Given the description of an element on the screen output the (x, y) to click on. 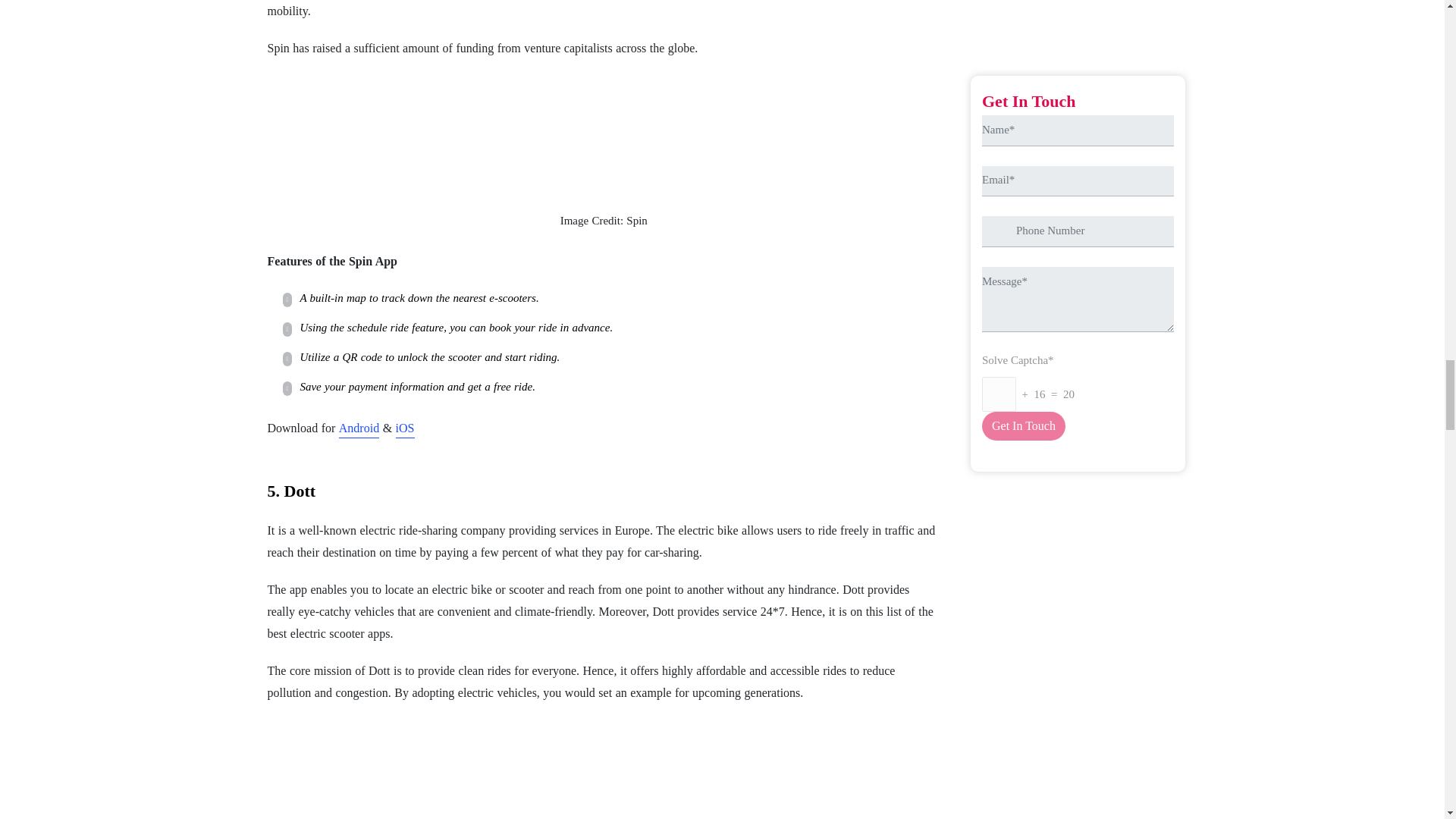
Dott (603, 770)
Spin - Electric Scooters (603, 134)
